Given the description of an element on the screen output the (x, y) to click on. 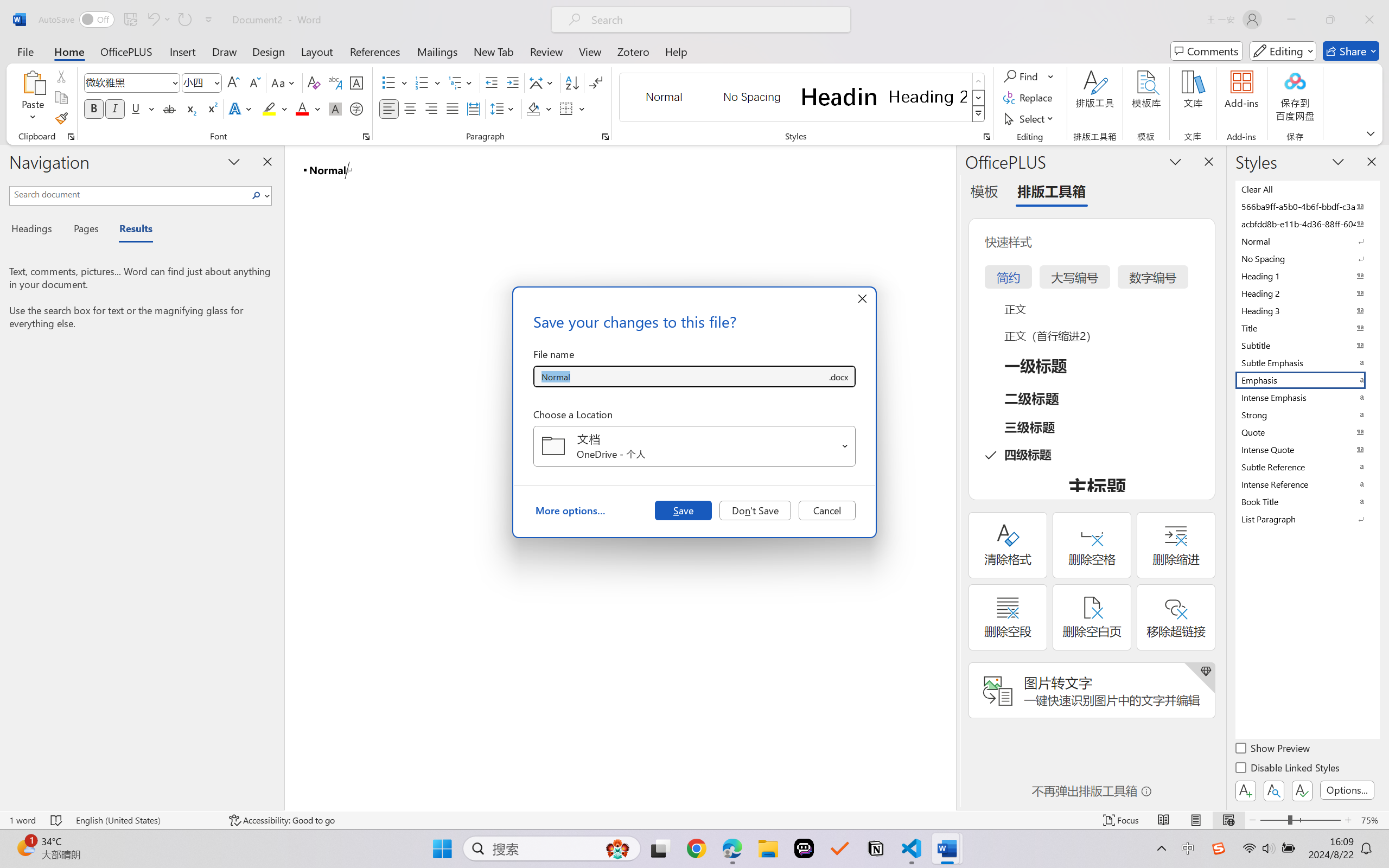
Customize Quick Access Toolbar (208, 19)
Subtle Reference (1306, 466)
Pages (85, 229)
Don't Save (755, 509)
Close (1369, 19)
Increase Indent (512, 82)
View (589, 51)
New Tab (493, 51)
Zoom In (1348, 819)
Accessibility Checker Accessibility: Good to go (282, 819)
Show Preview (1273, 749)
